Given the description of an element on the screen output the (x, y) to click on. 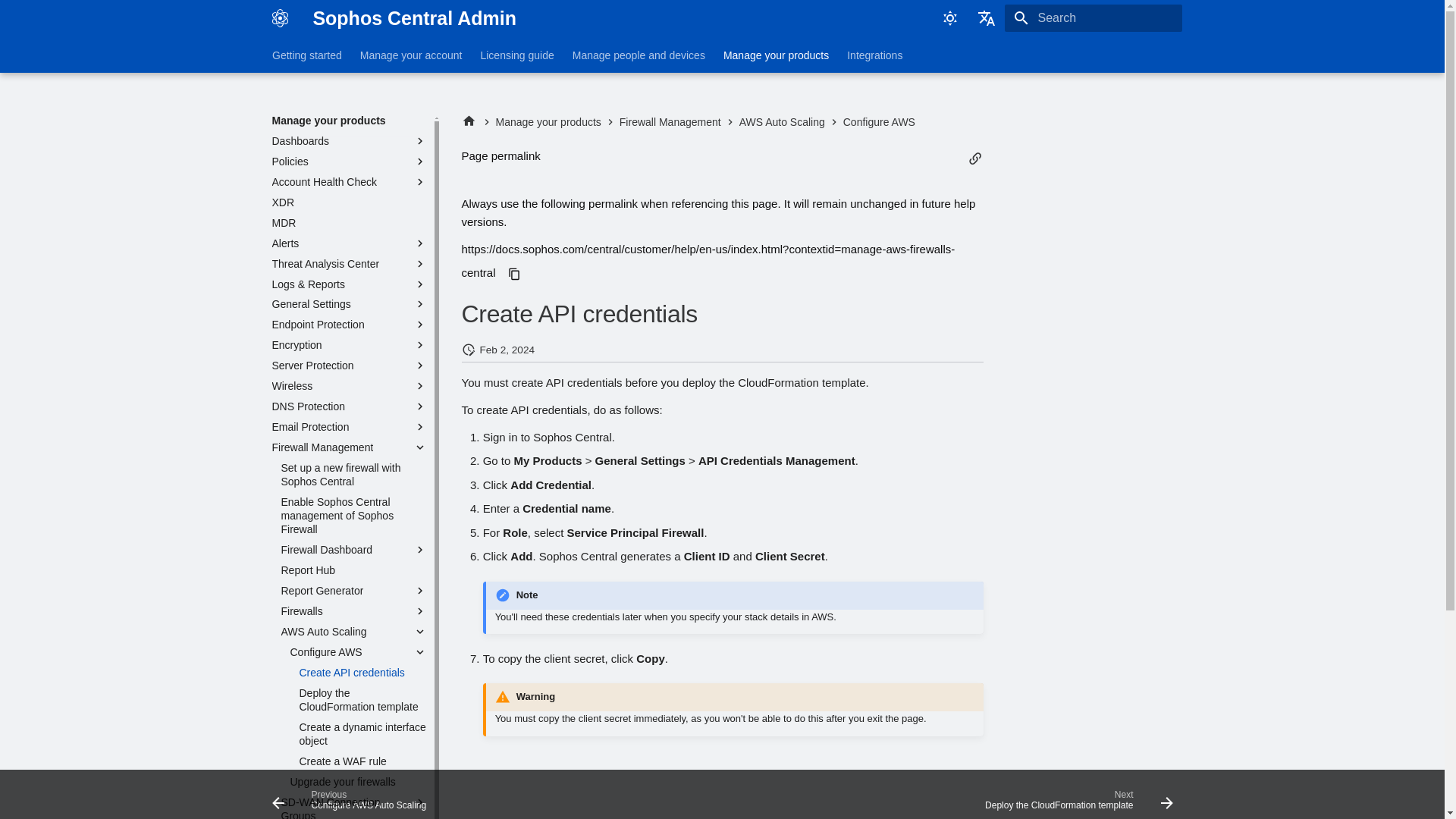
Server Protection (348, 365)
Dashboards (348, 141)
Licensing guide (516, 55)
Getting started (305, 55)
Sophos Central Admin (279, 18)
Alerts (348, 243)
Integrations (874, 55)
Show permalink (975, 158)
Manage people and devices (638, 55)
Email Protection (348, 427)
